Given the description of an element on the screen output the (x, y) to click on. 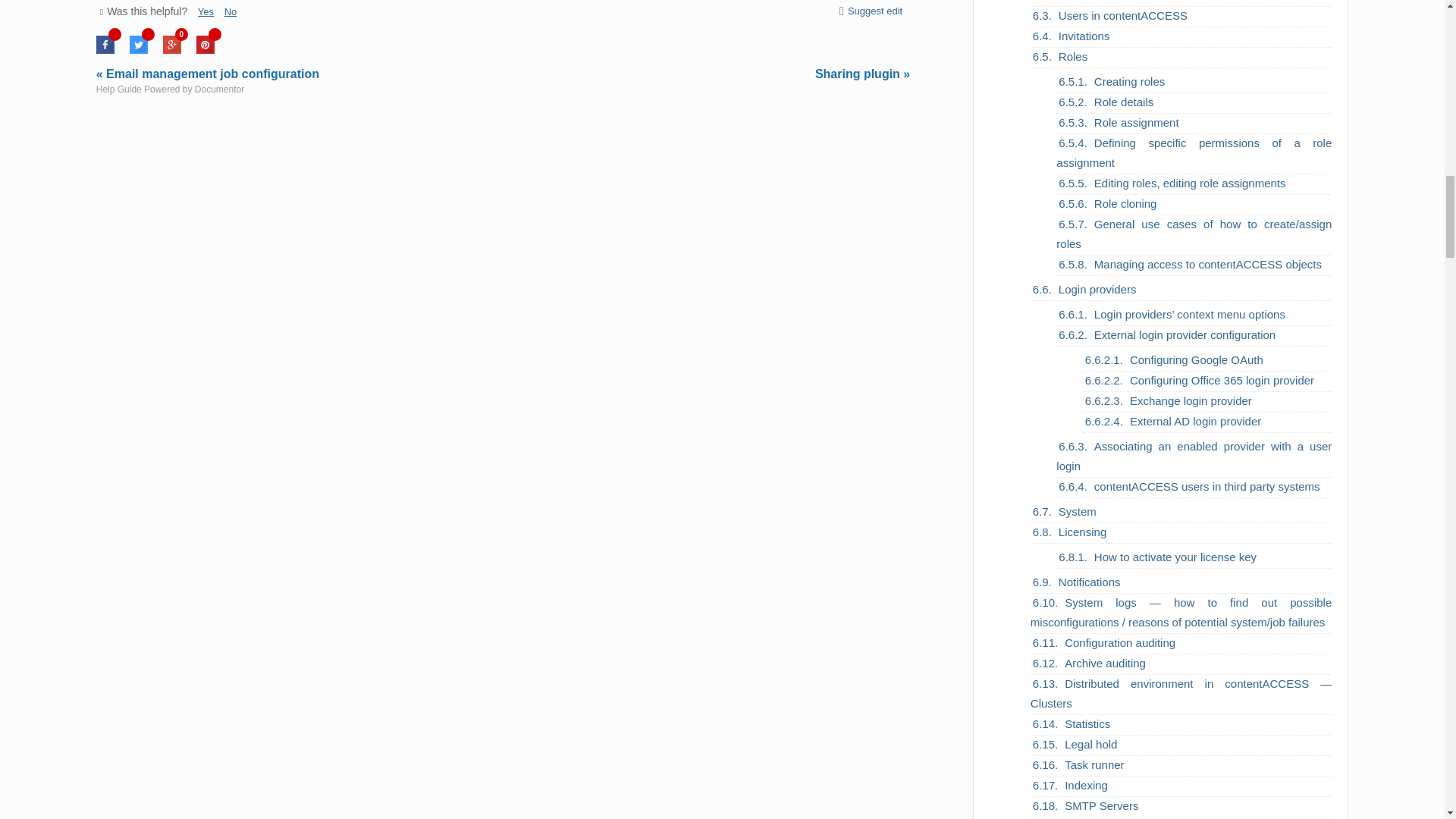
Give suggestion (868, 10)
Share to Google Plus (171, 50)
Share to Pinterest (205, 50)
Share to Twitter (138, 50)
Share to Facebook (105, 50)
